Given the description of an element on the screen output the (x, y) to click on. 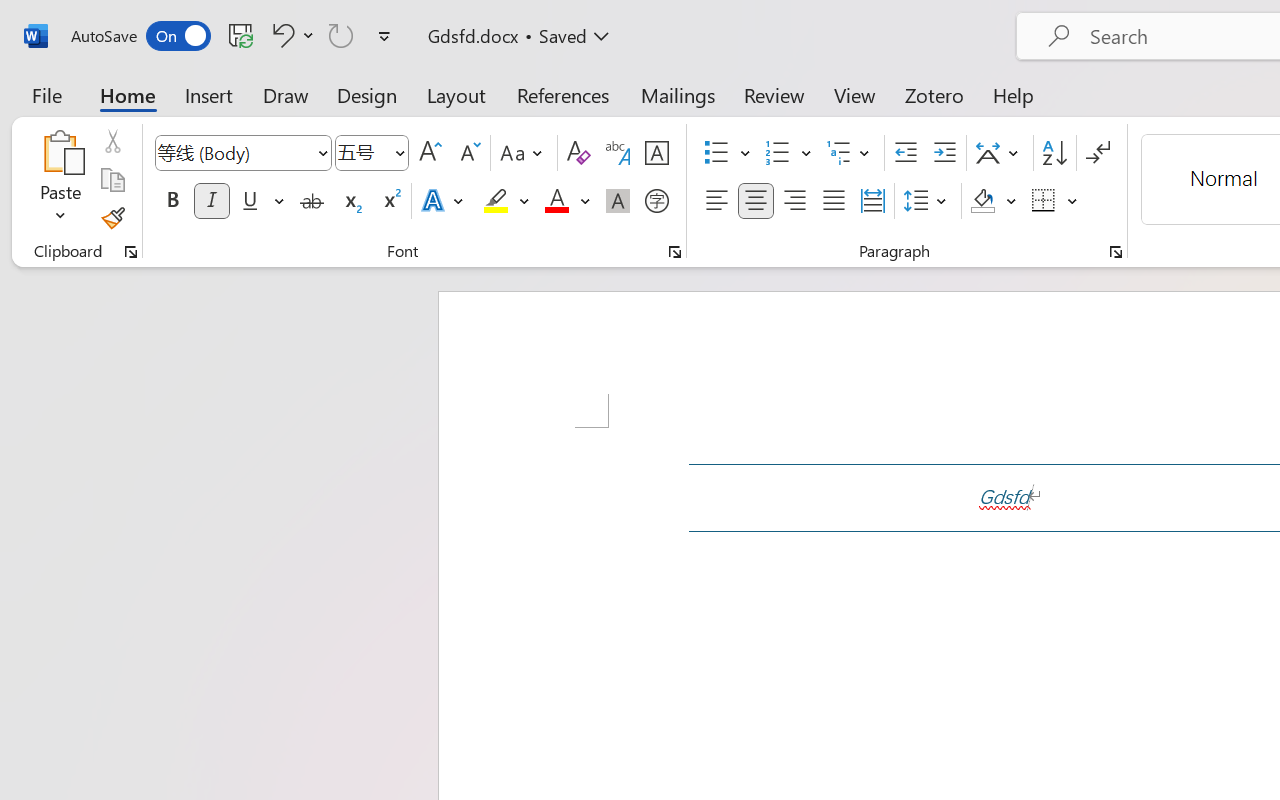
Text Highlight Color (506, 201)
Enclose Characters... (656, 201)
Align Left (716, 201)
Decrease Indent (906, 153)
Clear Formatting (578, 153)
Line and Paragraph Spacing (927, 201)
